Given the description of an element on the screen output the (x, y) to click on. 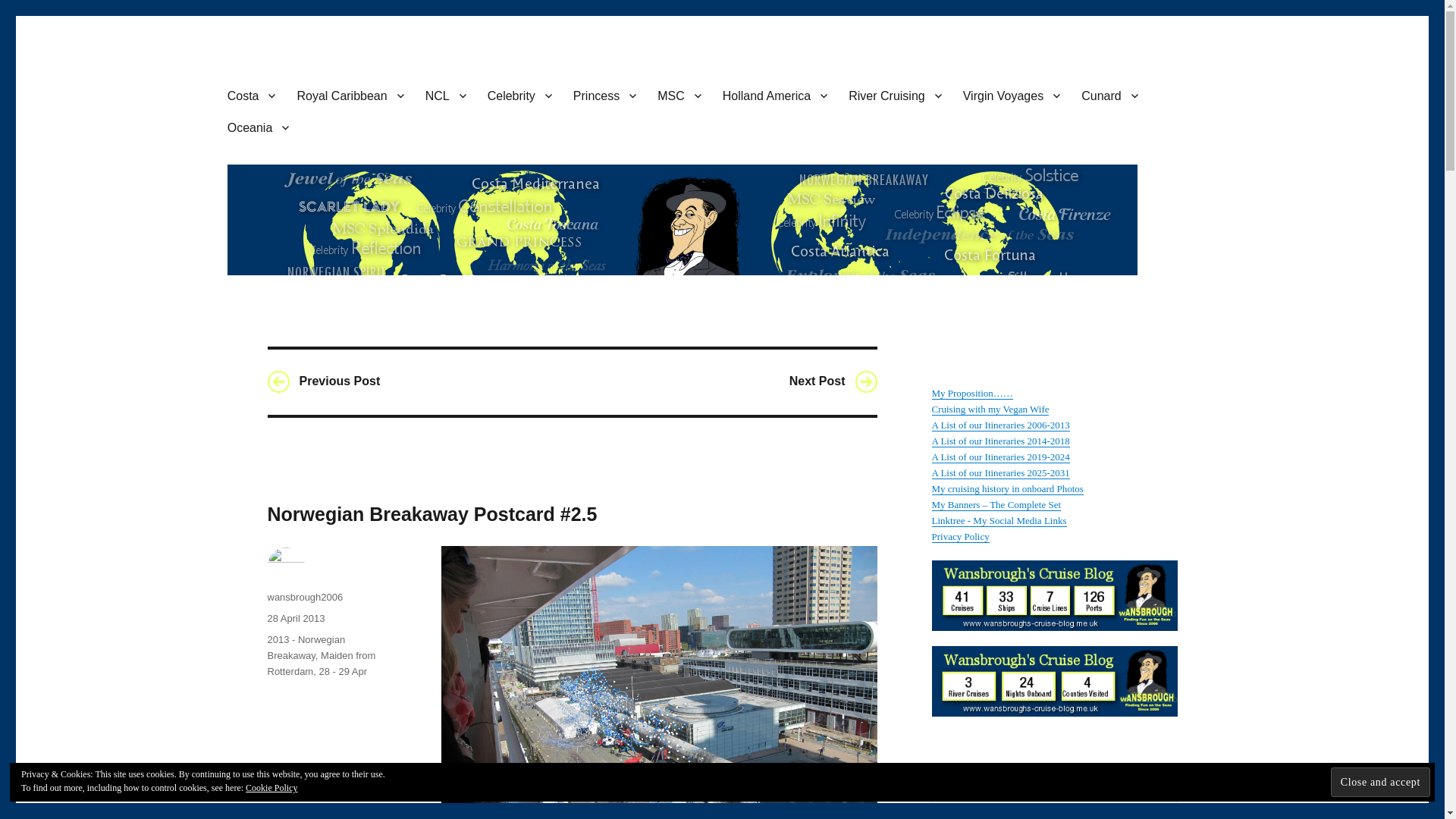
Close and accept (1379, 781)
Celebrity (519, 95)
Costa (251, 95)
Royal Caribbean (349, 95)
Princess (604, 95)
Wansbrough's Cruise Blog (362, 50)
NCL (445, 95)
